Given the description of an element on the screen output the (x, y) to click on. 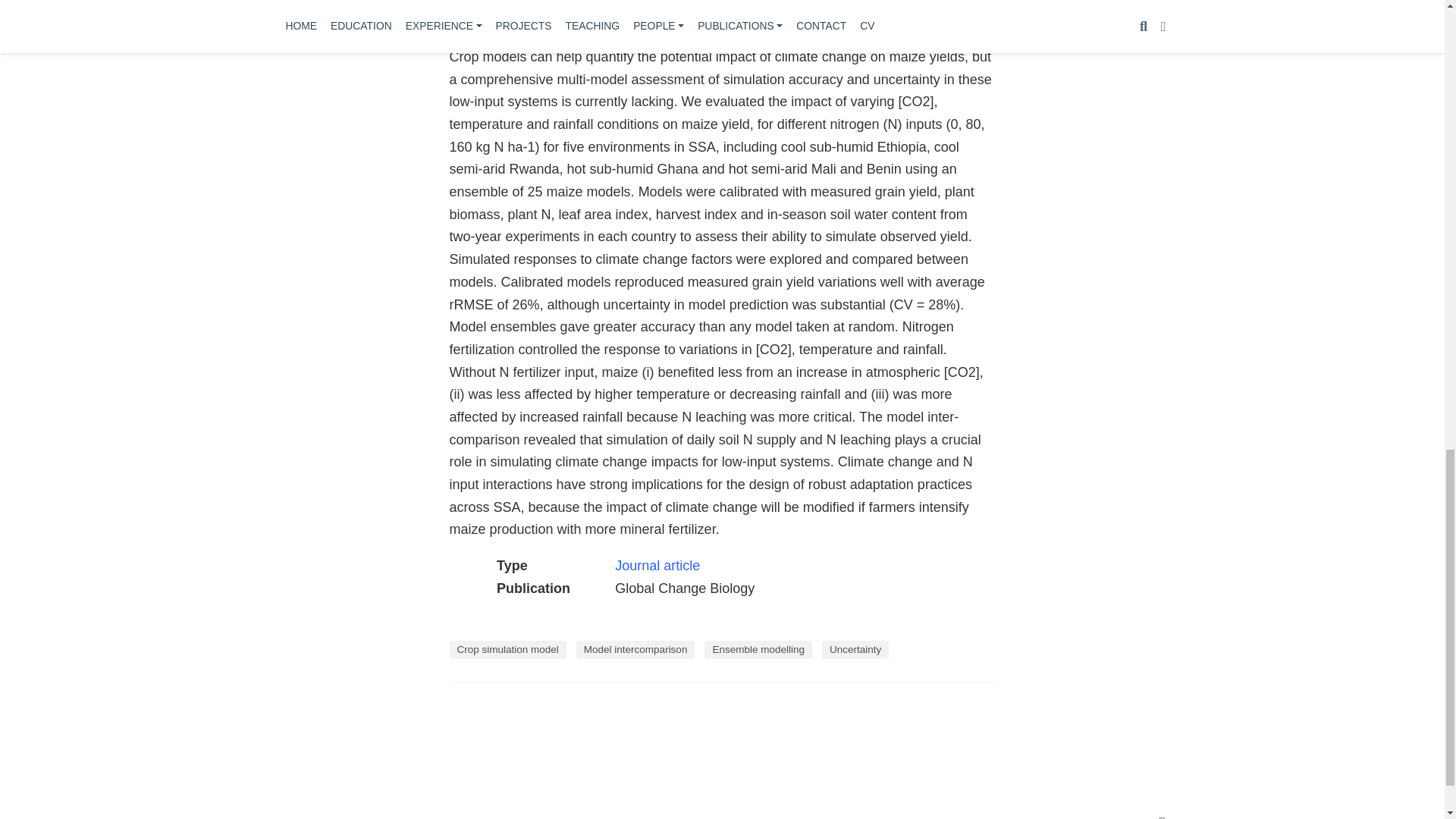
Journal article (657, 565)
Crop simulation model (507, 649)
Model intercomparison (635, 649)
Uncertainty (855, 649)
Ensemble modelling (758, 649)
